Given the description of an element on the screen output the (x, y) to click on. 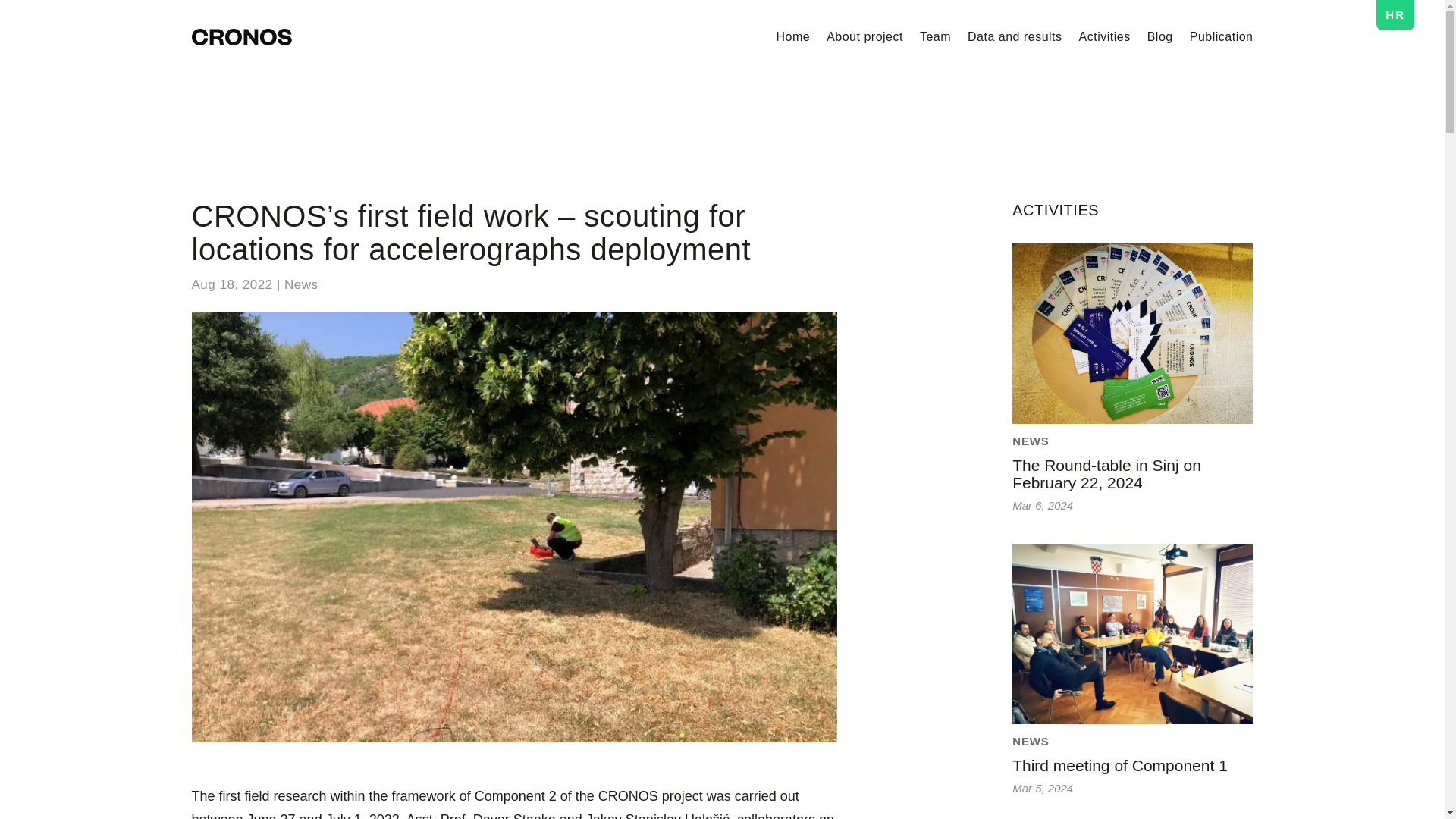
NEWS (1030, 740)
Activities (1104, 37)
NEWS (1030, 440)
Publication (1221, 37)
HR (1395, 17)
Third meeting of Component 1 (1119, 764)
About project (864, 37)
The Round-table in Sinj on February 22, 2024 (1106, 473)
Data and results (1015, 37)
News (300, 284)
